Given the description of an element on the screen output the (x, y) to click on. 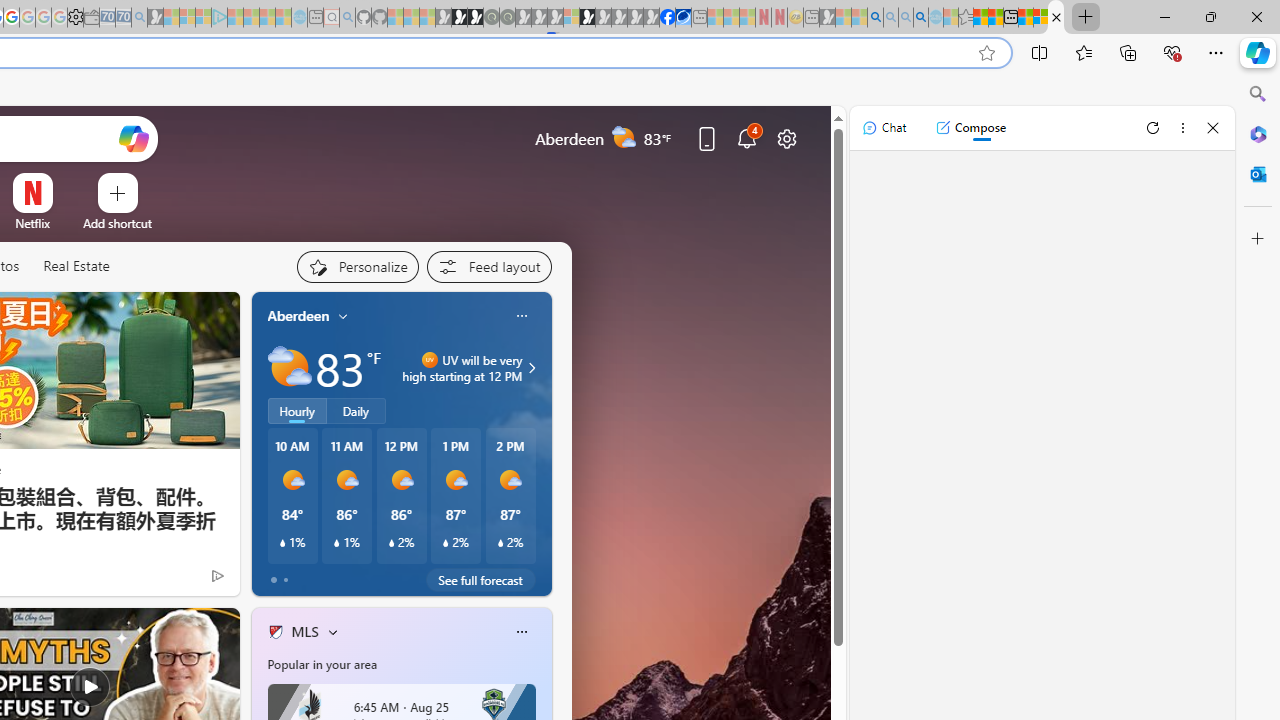
Class: icon-img (521, 632)
Real Estate (76, 265)
Compose (970, 128)
Future Focus Report 2024 - Sleeping (507, 17)
Class: weather-arrow-glyph (531, 367)
